Given the description of an element on the screen output the (x, y) to click on. 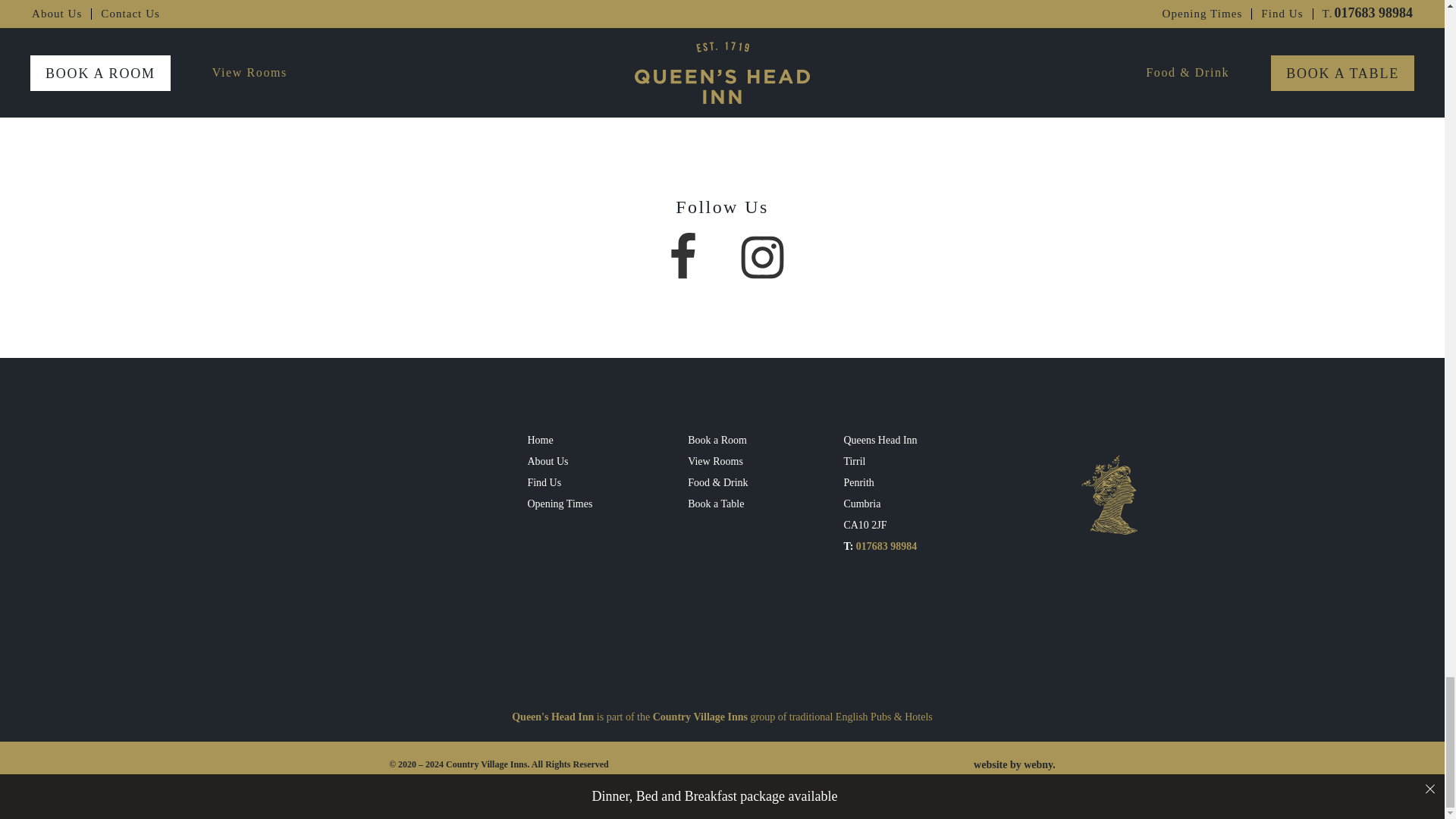
About Us (559, 461)
Opening Times (559, 504)
Find Us (559, 482)
Home (559, 440)
